Given the description of an element on the screen output the (x, y) to click on. 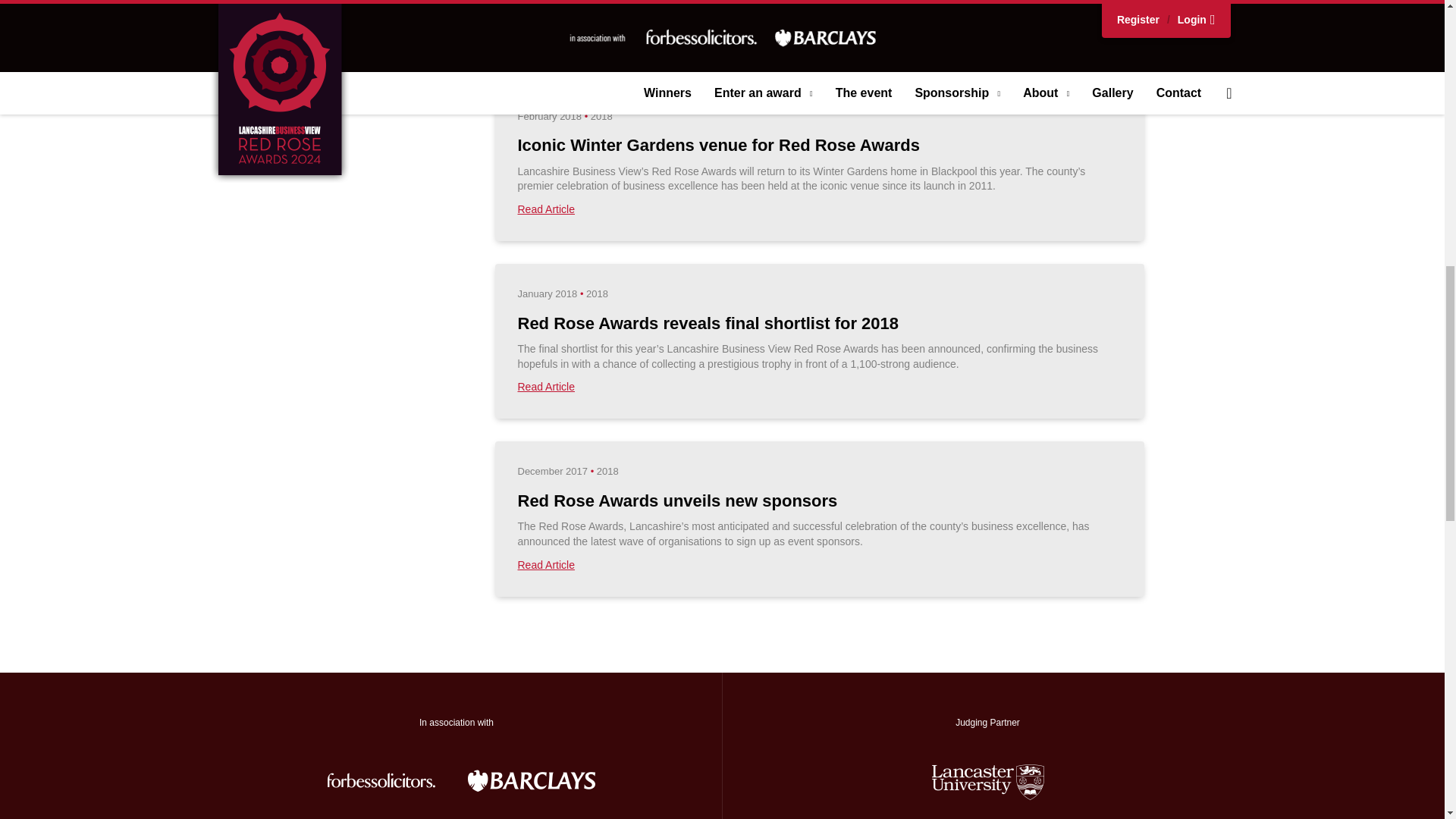
Barclays (531, 780)
Forbes Solicitors (381, 780)
Lancaster University (987, 780)
